Given the description of an element on the screen output the (x, y) to click on. 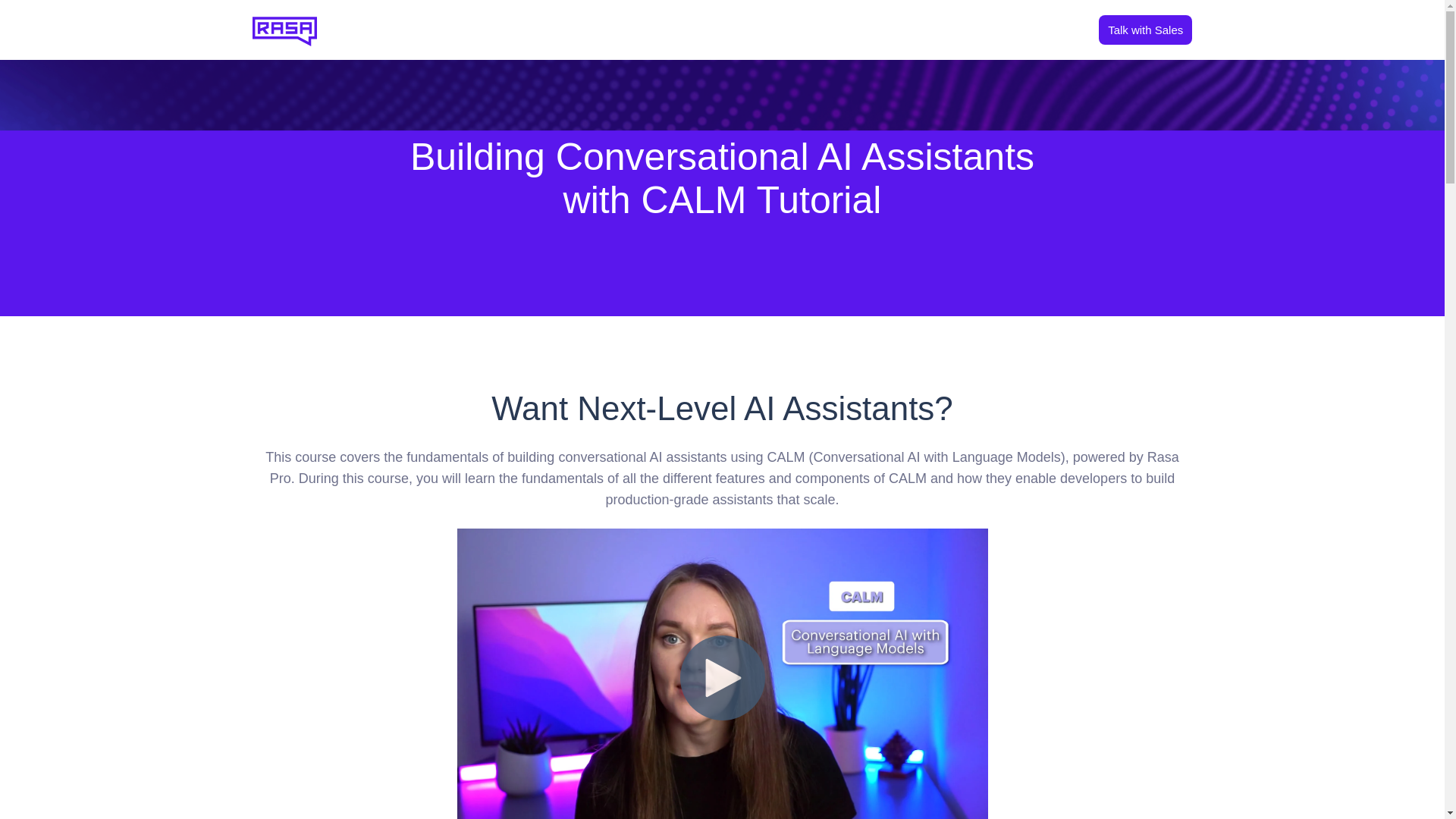
rasa-purple (283, 29)
Talk with Sales (1145, 30)
